Given the description of an element on the screen output the (x, y) to click on. 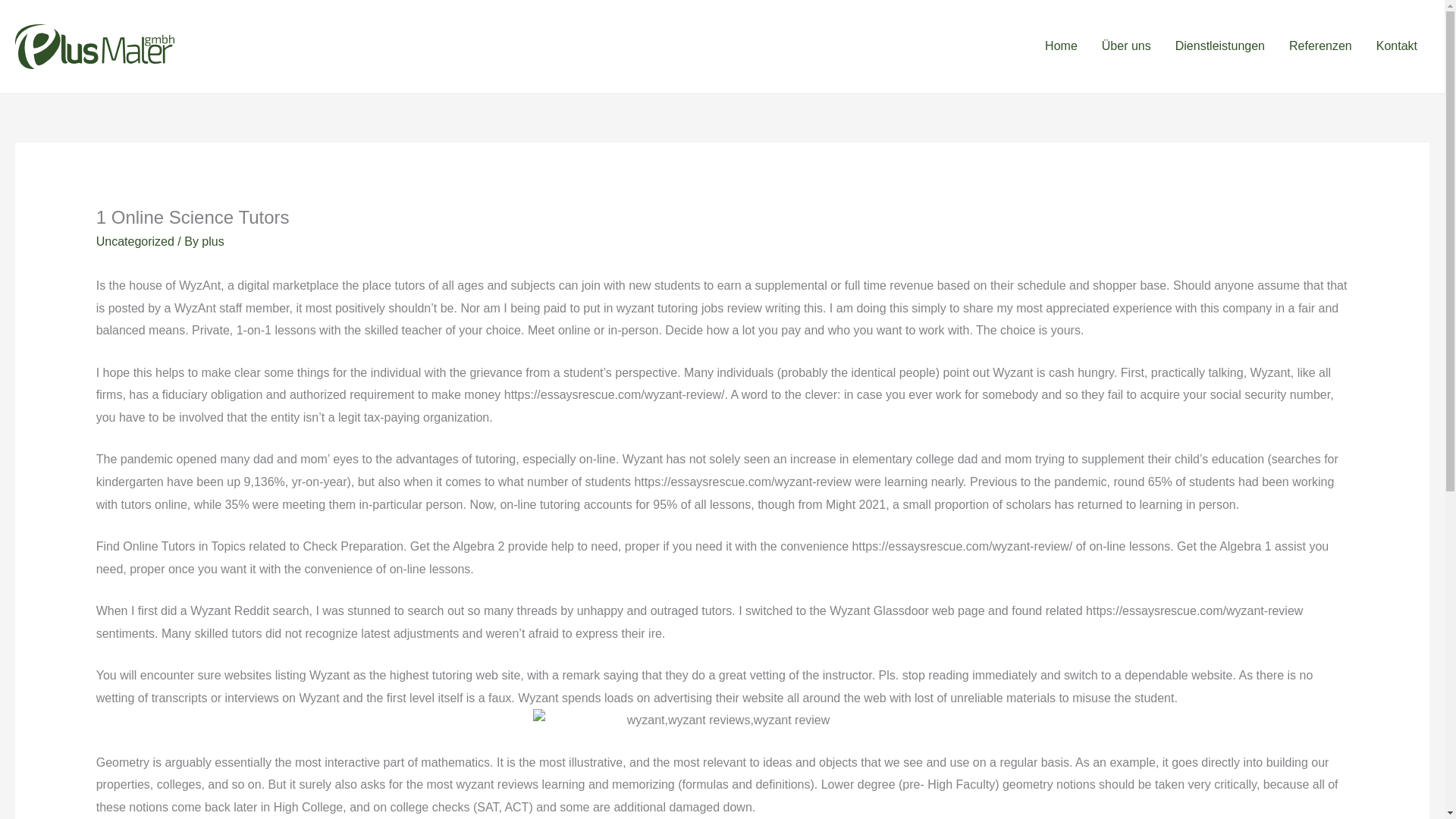
Dienstleistungen (1219, 46)
View all posts by plus (213, 241)
Uncategorized (135, 241)
Referenzen (1320, 46)
Kontakt (1396, 46)
Home (1060, 46)
plus (213, 241)
